Given the description of an element on the screen output the (x, y) to click on. 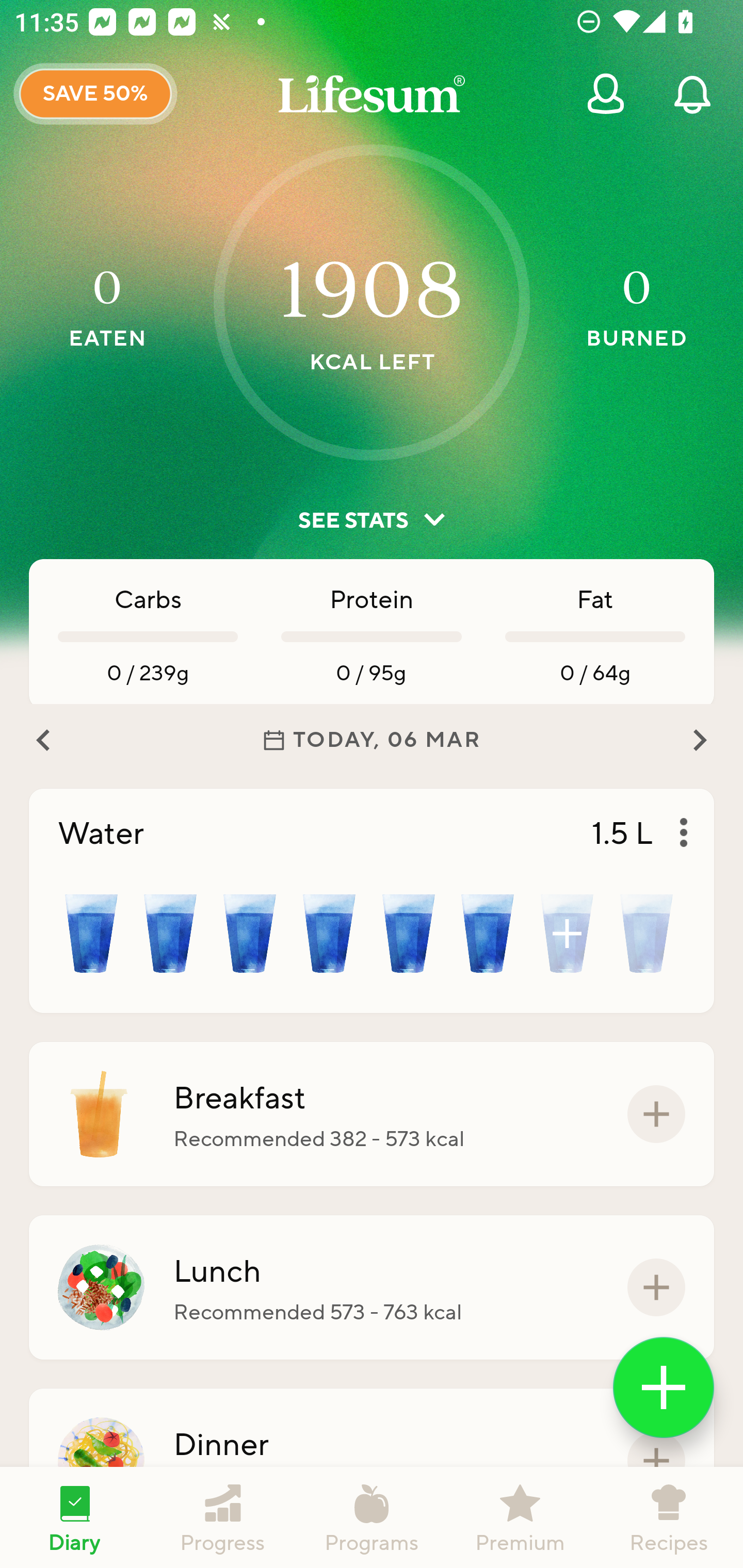
SEE STATS (371, 519)
TODAY, 06 MAR (371, 739)
Breakfast Recommended 382 - 573 kcal (371, 1113)
Lunch Recommended 573 - 763 kcal (371, 1287)
Dinner Recommended 573 - 763 kcal (371, 1461)
Progress (222, 1517)
Programs (371, 1517)
Premium (519, 1517)
Recipes (668, 1517)
